Given the description of an element on the screen output the (x, y) to click on. 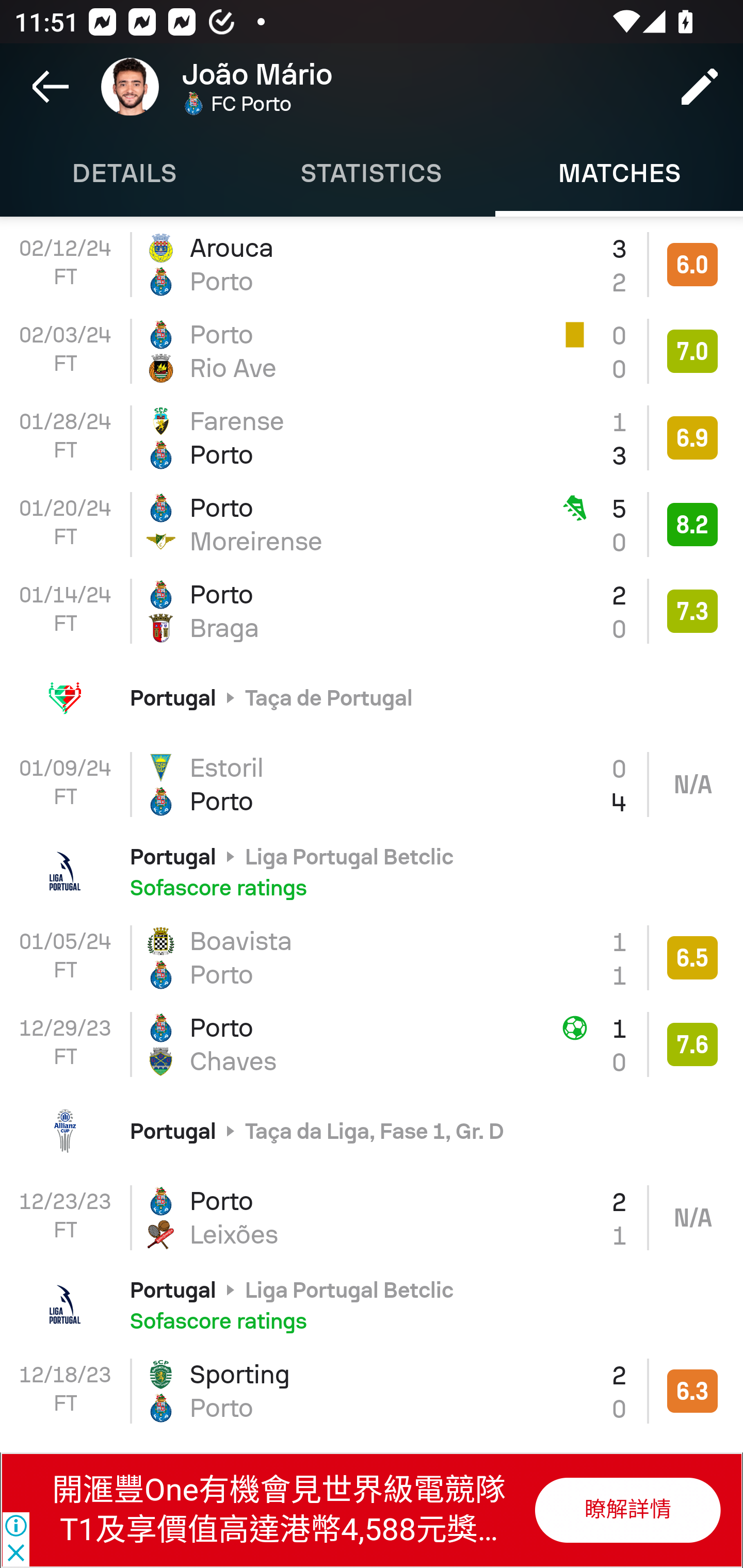
Navigate up (50, 86)
Edit (699, 86)
Details DETAILS (123, 173)
Statistics STATISTICS (371, 173)
02/12/24 FT Arouca 3 Porto 2 6.0 (371, 264)
6.0 (692, 264)
02/03/24 FT Porto 0 Rio Ave 0 7.0 (371, 351)
7.0 (692, 351)
01/28/24 FT Farense 1 Porto 3 6.9 (371, 438)
6.9 (692, 437)
01/20/24 FT Porto 5 Moreirense 0 8.2 (371, 524)
8.2 (692, 524)
01/14/24 FT Porto 2 Braga 0 7.3 (371, 610)
7.3 (692, 611)
Portugal Taça de Portugal (371, 697)
01/09/24 FT Estoril 0 Porto 4 N/A (371, 784)
N/A (692, 784)
Portugal Liga Portugal Betclic Sofascore ratings (371, 870)
01/05/24 FT Boavista 1 Porto 1 6.5 (371, 957)
6.5 (692, 958)
12/29/23 FT Porto 1 Chaves 0 7.6 (371, 1044)
7.6 (692, 1044)
Portugal Taça da Liga, Fase 1, Gr. D (371, 1131)
12/23/23 FT Porto 2 Leixões 1 N/A (371, 1217)
N/A (692, 1217)
Portugal Liga Portugal Betclic Sofascore ratings (371, 1304)
12/18/23 FT Sporting 2 Porto 0 6.3 (371, 1391)
6.3 (692, 1390)
B31525787 (626, 1509)
